Given the description of an element on the screen output the (x, y) to click on. 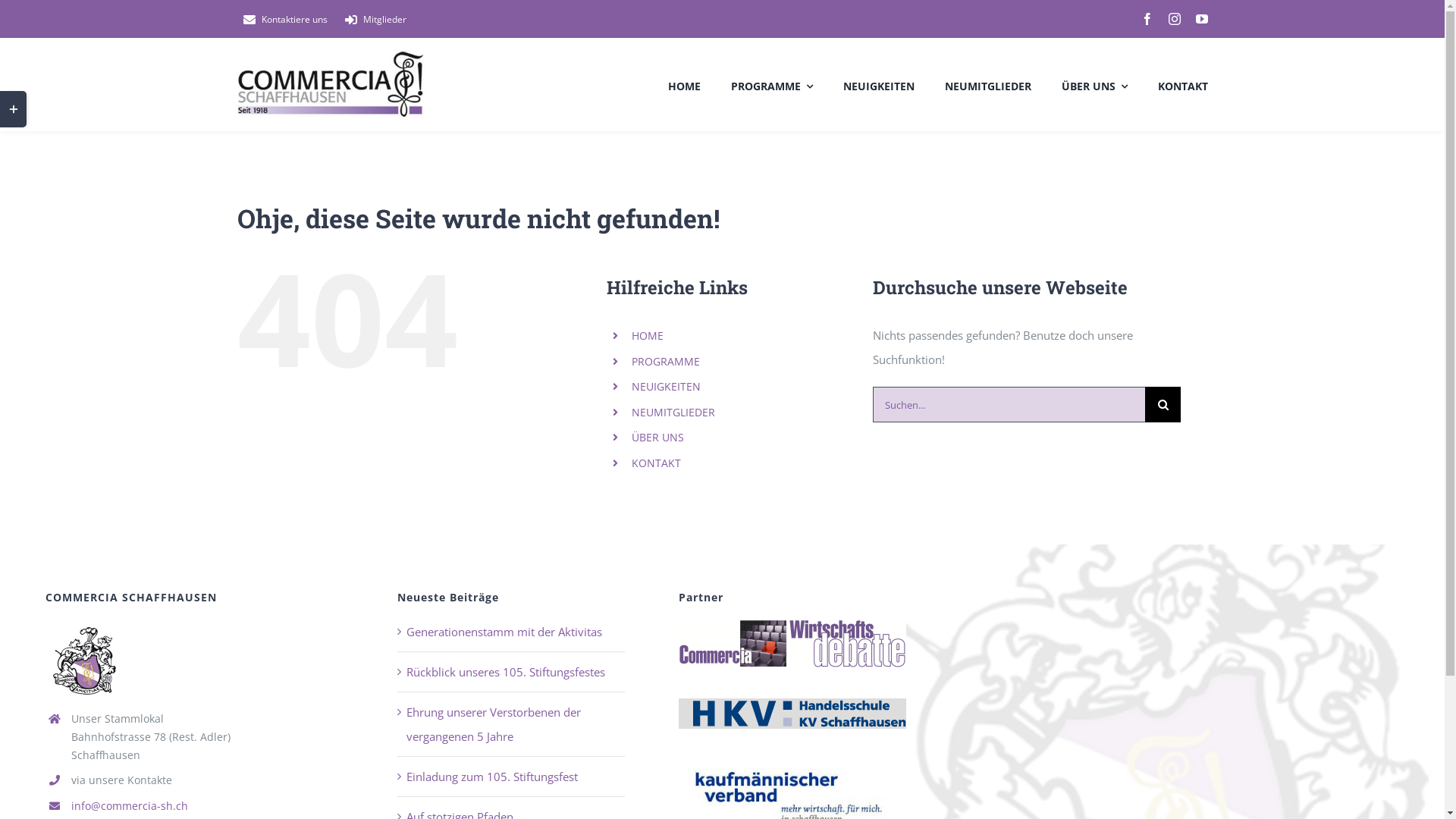
NEUMITGLIEDER Element type: text (987, 83)
Ehrung unserer Verstorbenen der vergangenen 5 Jahre Element type: text (493, 723)
PROGRAMME Element type: text (665, 361)
HOME Element type: text (647, 335)
PROGRAMME Element type: text (771, 83)
Toggle Sliding Bar Area Element type: text (13, 109)
KONTAKT Element type: text (655, 462)
KONTAKT Element type: text (1182, 83)
Einladung zum 105. Stiftungsfest Element type: text (491, 776)
commercia_page-logo-1 Element type: hover (84, 660)
NEUIGKEITEN Element type: text (665, 386)
NEUIGKEITEN Element type: text (878, 83)
Generationenstamm mit der Aktivitas Element type: text (504, 631)
info@commercia-sh.ch Element type: text (129, 805)
HOME Element type: text (683, 83)
Mitglieder Element type: text (371, 19)
Kontaktiere uns Element type: text (281, 19)
NEUMITGLIEDER Element type: text (673, 411)
